Given the description of an element on the screen output the (x, y) to click on. 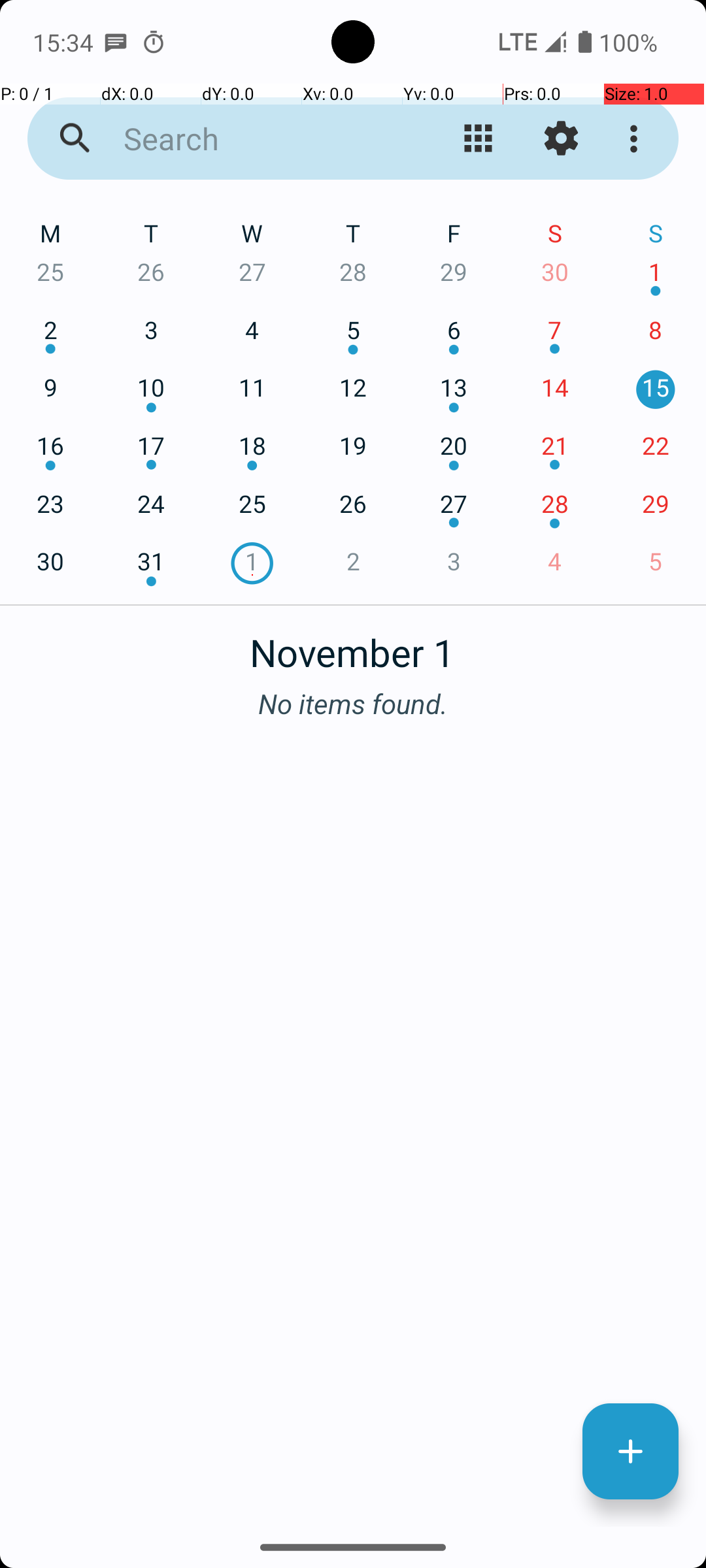
November 1 Element type: android.widget.TextView (352, 644)
SMS Messenger notification: +15785288010 Element type: android.widget.ImageView (115, 41)
